Given the description of an element on the screen output the (x, y) to click on. 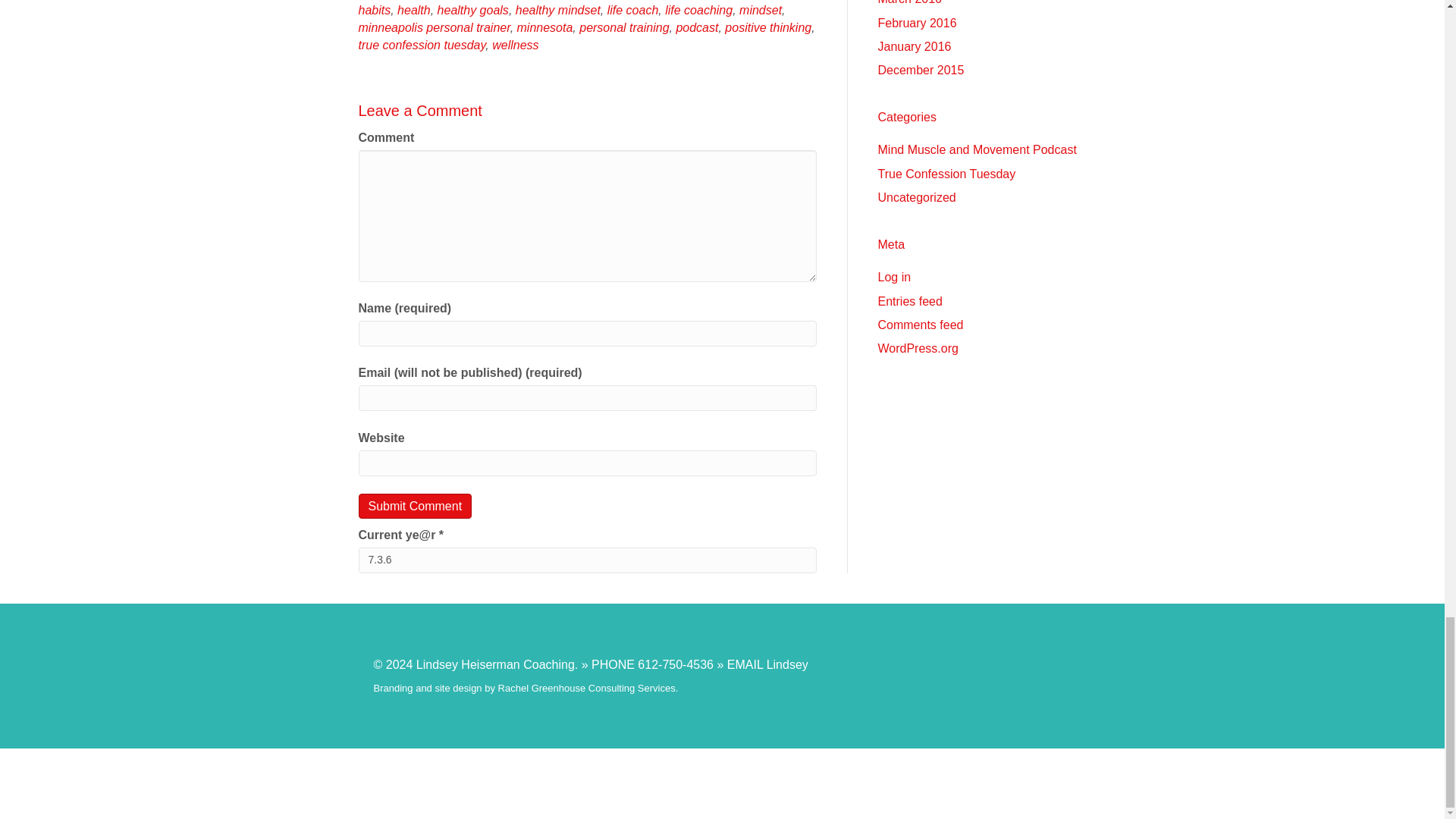
habits (374, 10)
positive thinking (767, 27)
7.3.6 (586, 560)
podcast (696, 27)
minnesota (544, 27)
healthy goals (473, 10)
healthy mindset (557, 10)
minneapolis personal trainer (433, 27)
true confession tuesday (421, 44)
wellness (515, 44)
